Given the description of an element on the screen output the (x, y) to click on. 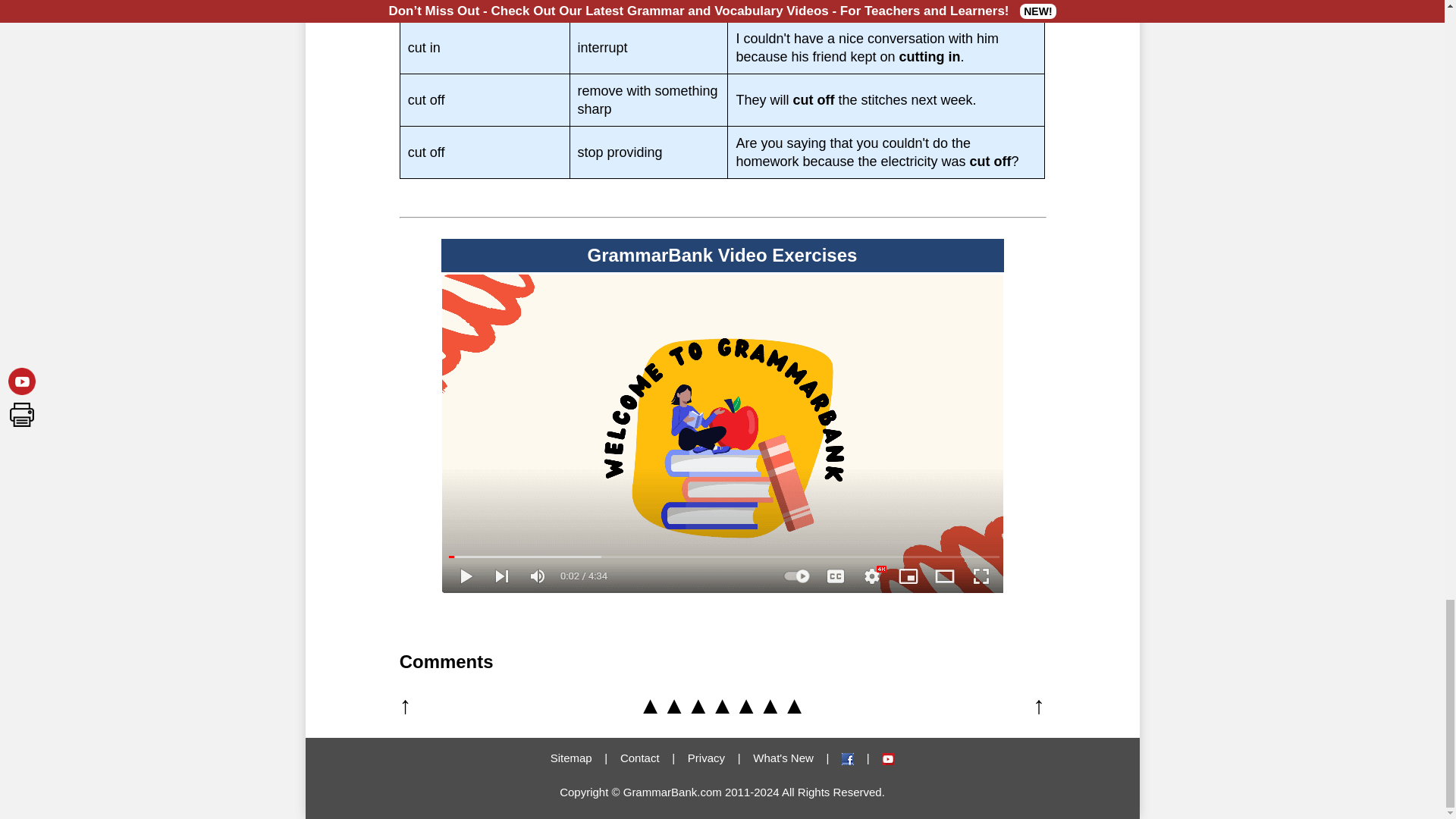
Like us on Facebook (847, 758)
Top of the page (721, 705)
GrammarBank Video Exercises (887, 758)
